Given the description of an element on the screen output the (x, y) to click on. 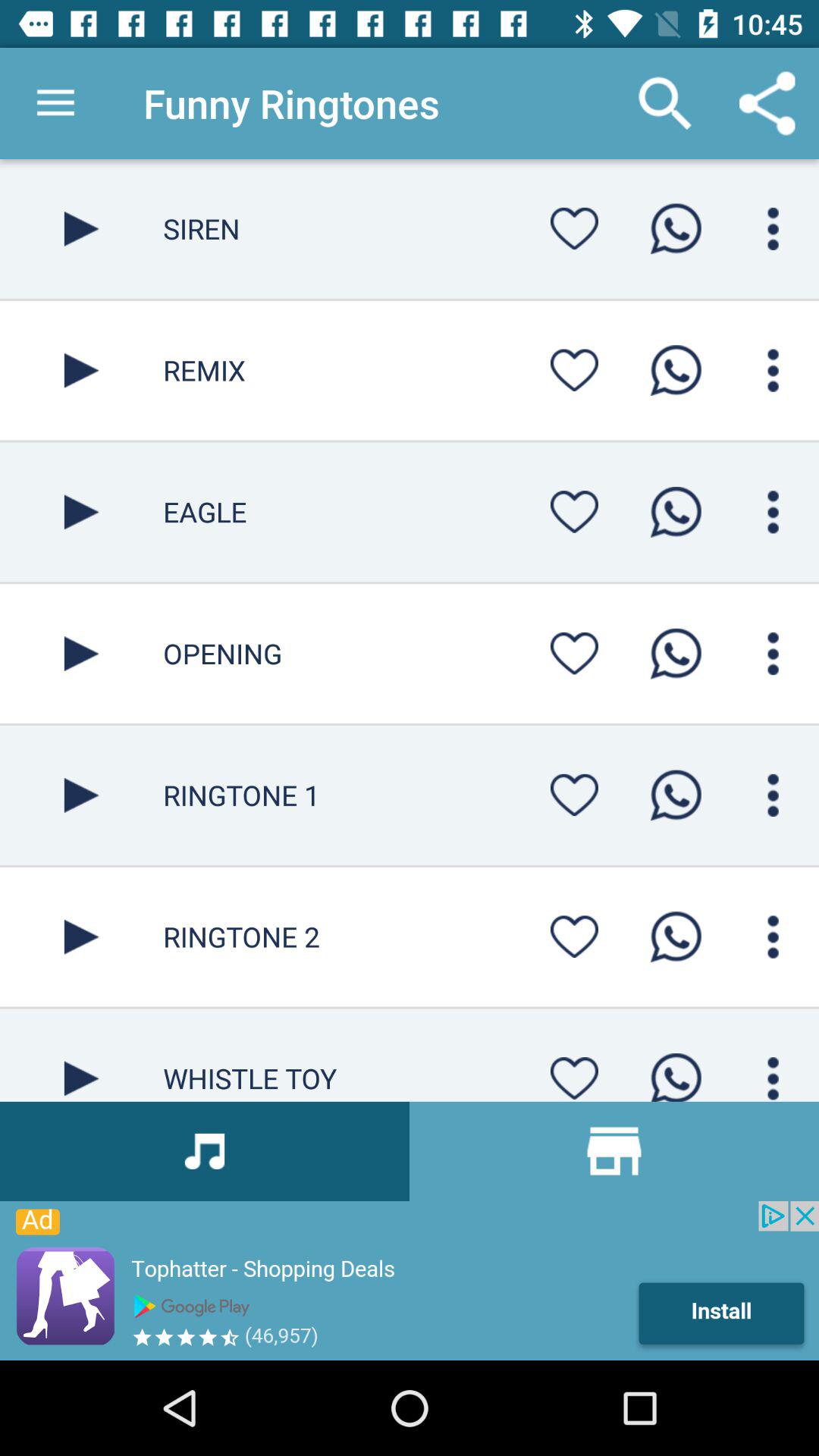
hear sample (81, 370)
